Given the description of an element on the screen output the (x, y) to click on. 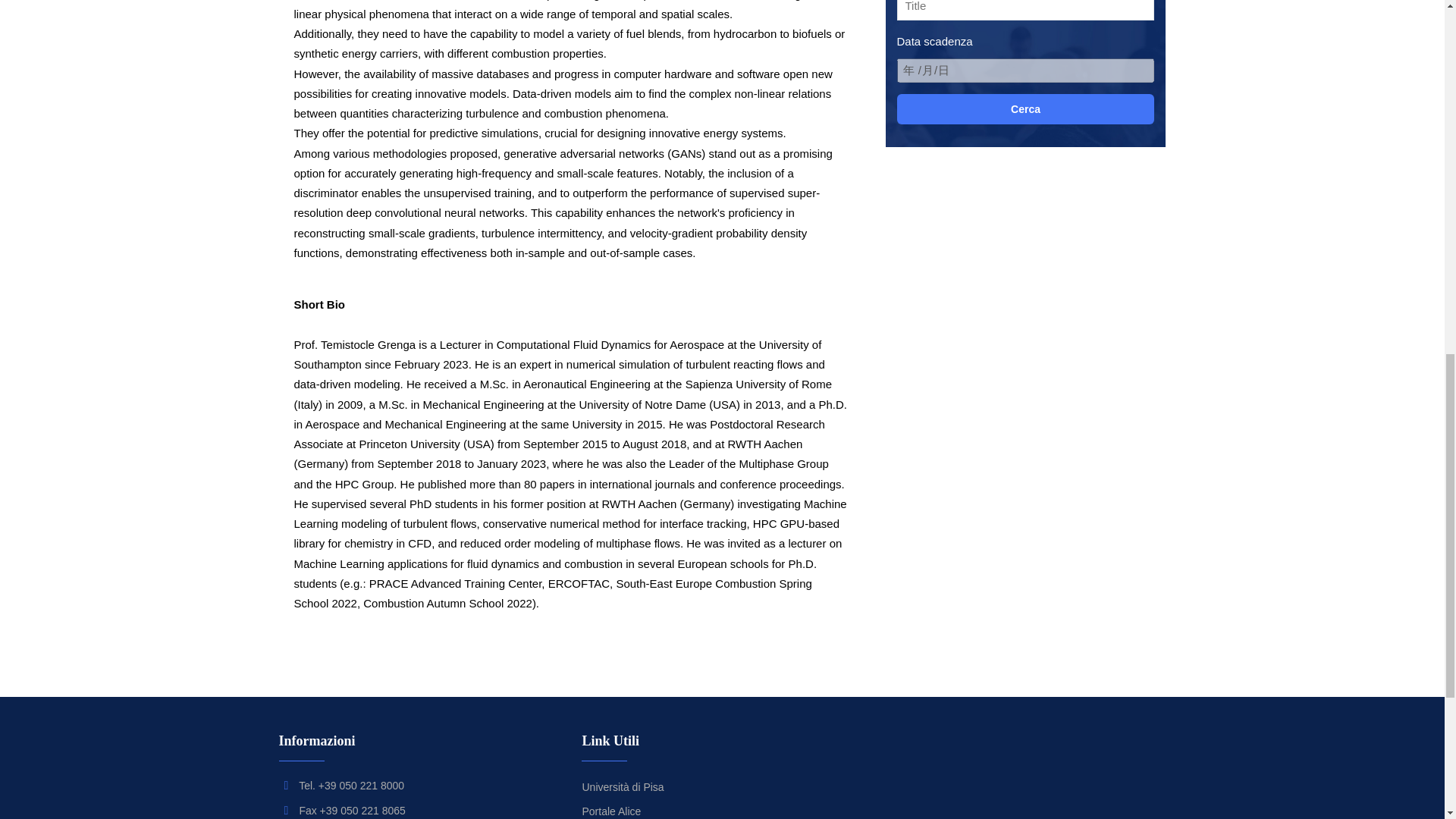
Cerca (1025, 109)
Cerca (1025, 109)
Portale Alice (610, 811)
